Given the description of an element on the screen output the (x, y) to click on. 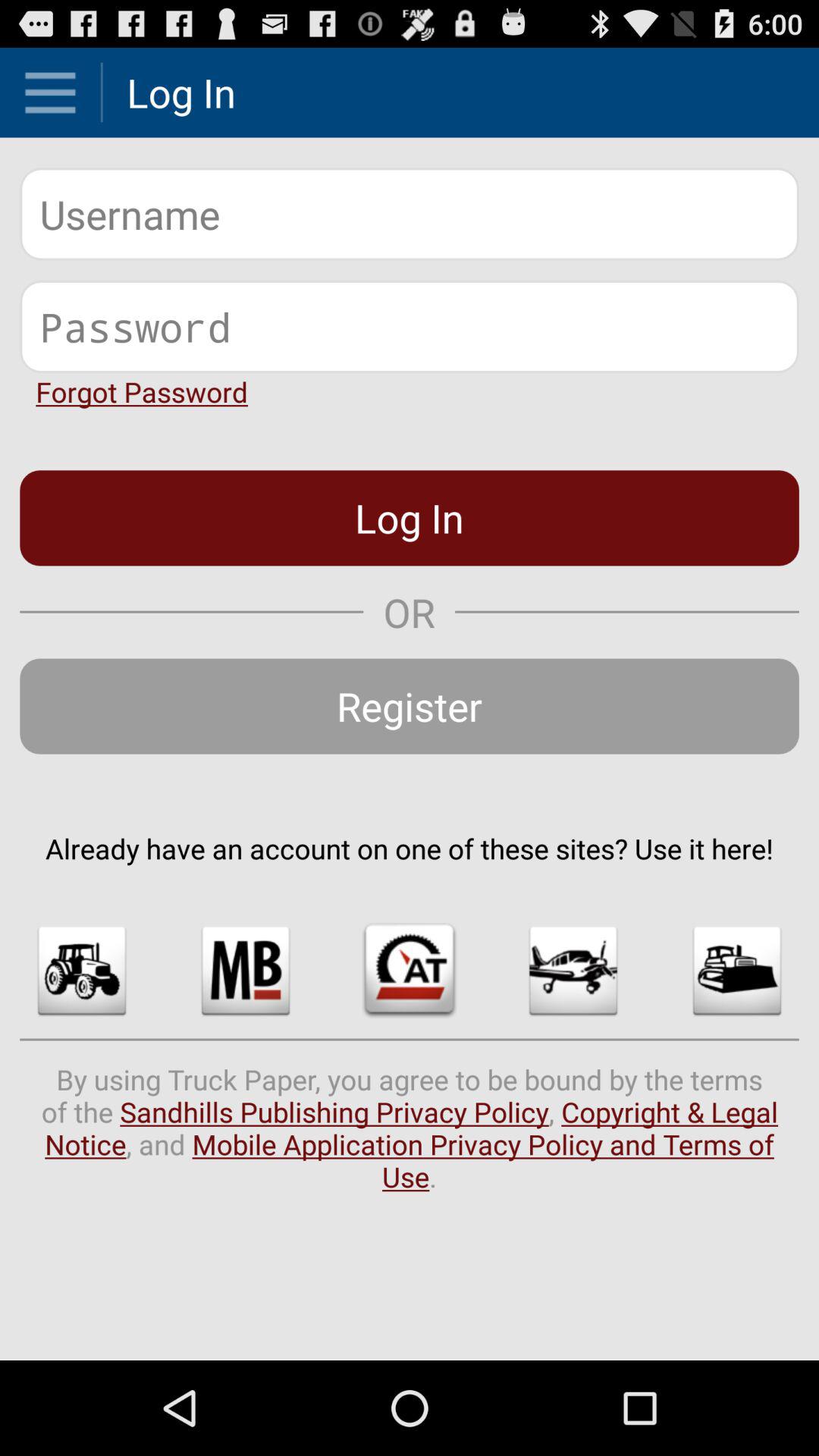
the button is used to create password (409, 326)
